Given the description of an element on the screen output the (x, y) to click on. 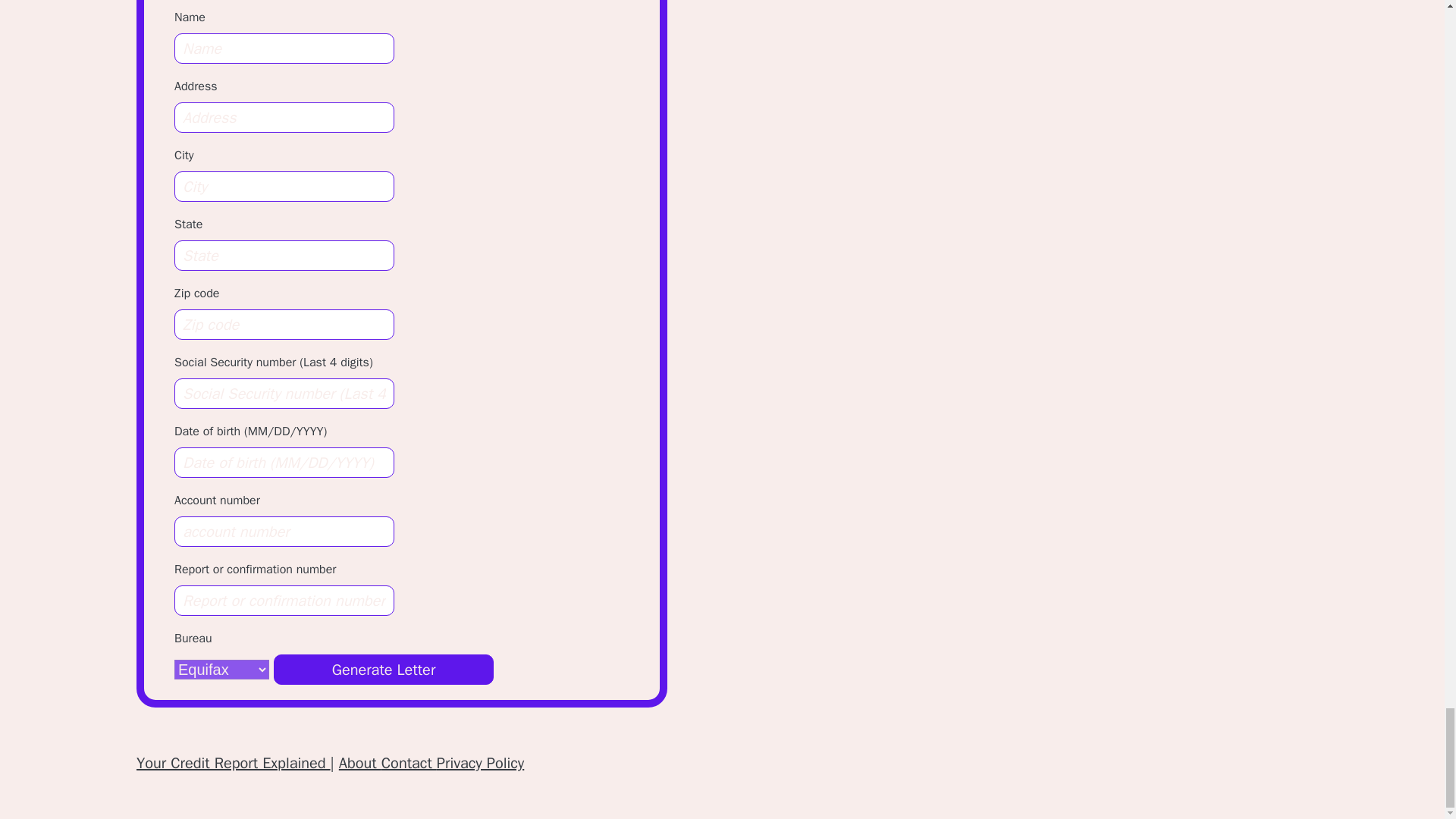
Your Credit Report Explained (233, 763)
Generate Letter (383, 669)
Privacy Policy (480, 763)
Generate Letter (383, 669)
Contact (408, 763)
About (360, 763)
